Given the description of an element on the screen output the (x, y) to click on. 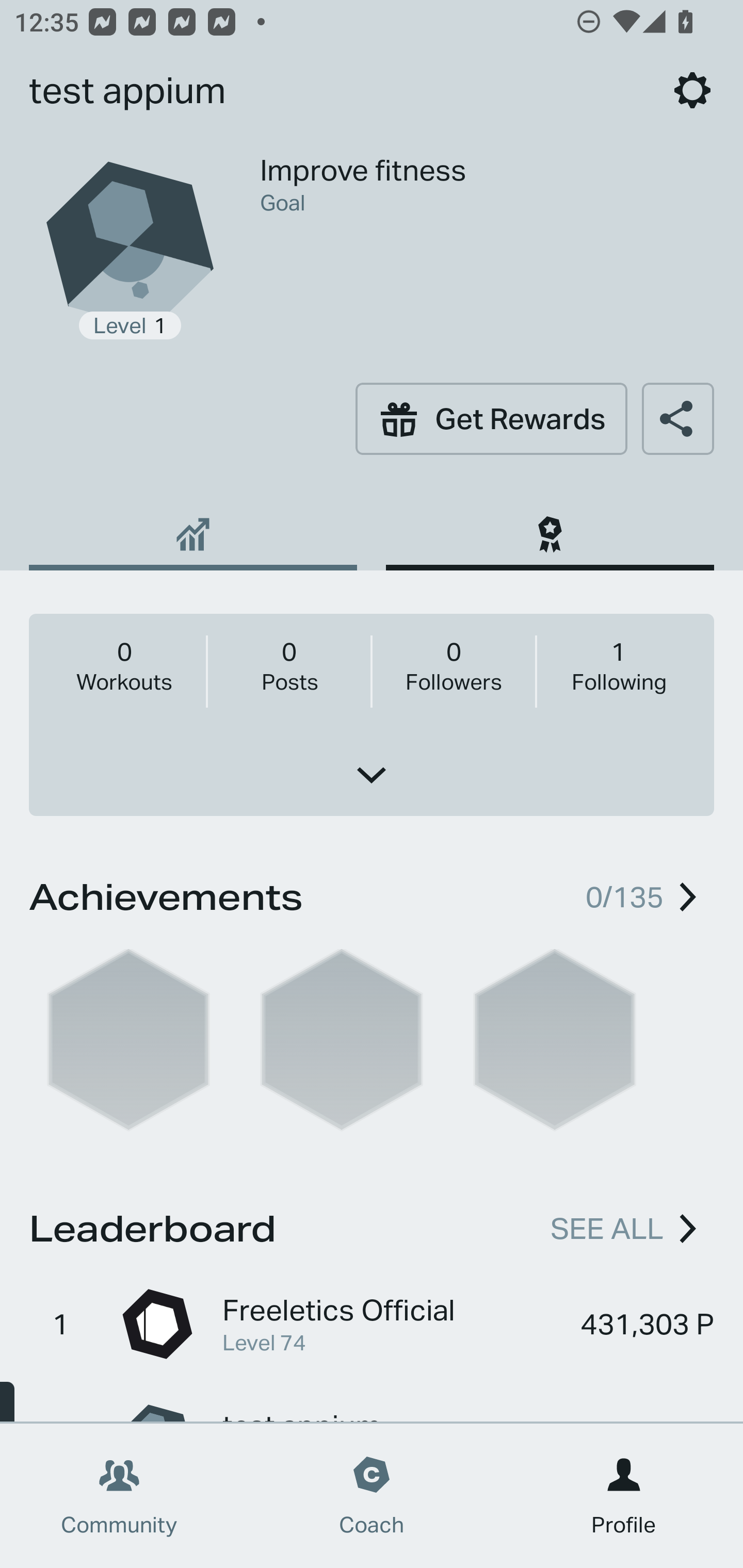
Settings (692, 90)
Get Rewards (491, 418)
Daily Athlete Score (192, 527)
Hall of Fame (549, 527)
0 Workouts (124, 665)
0 Posts (289, 665)
0 Followers (453, 665)
1 Following (618, 665)
Achievements 0/135 (371, 893)
Leaderboard SEE ALL (371, 1225)
1 Freeletics Official Level 74 431,303 P (371, 1323)
Community (119, 1495)
Coach (371, 1495)
